Given the description of an element on the screen output the (x, y) to click on. 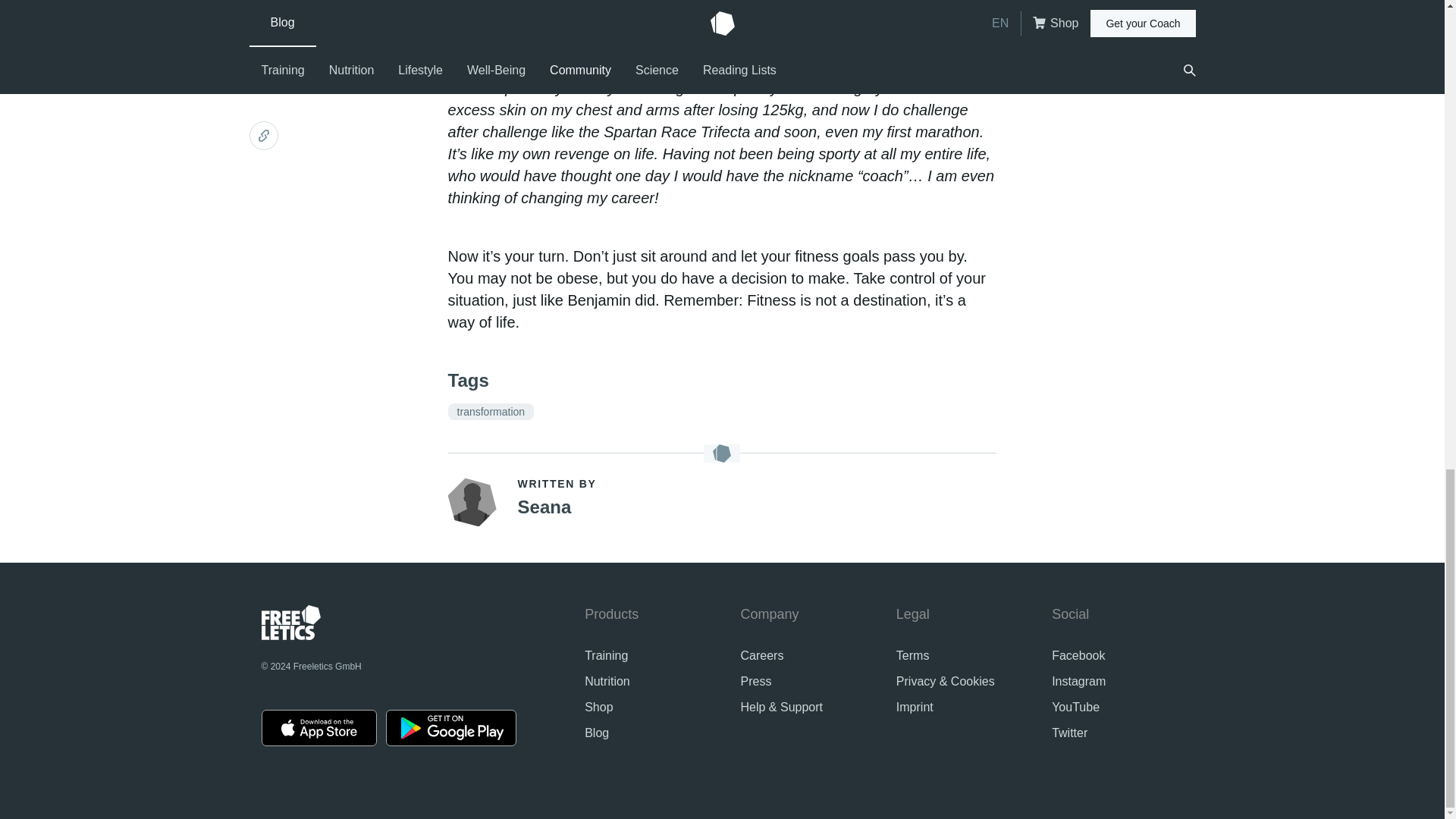
Training (606, 655)
Shop (598, 707)
transformation (491, 411)
Nutrition (607, 681)
